Given the description of an element on the screen output the (x, y) to click on. 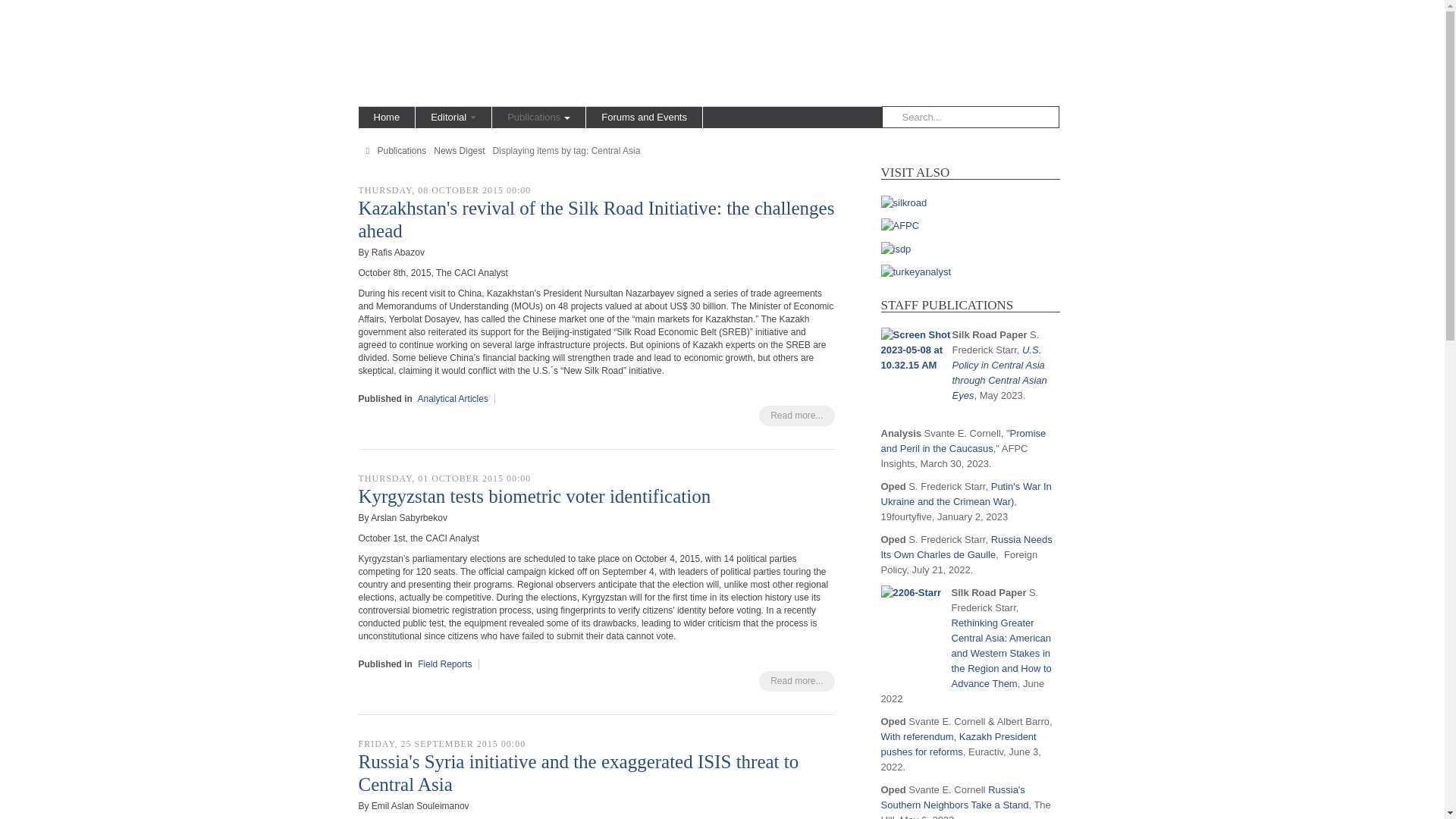
Home (386, 117)
Analytical Articles (452, 398)
Publications (538, 117)
Editorial (453, 117)
Forums and Events (643, 117)
Field Reports (444, 664)
Subscribe to this RSS feed (821, 167)
Read more... (796, 680)
